Given the description of an element on the screen output the (x, y) to click on. 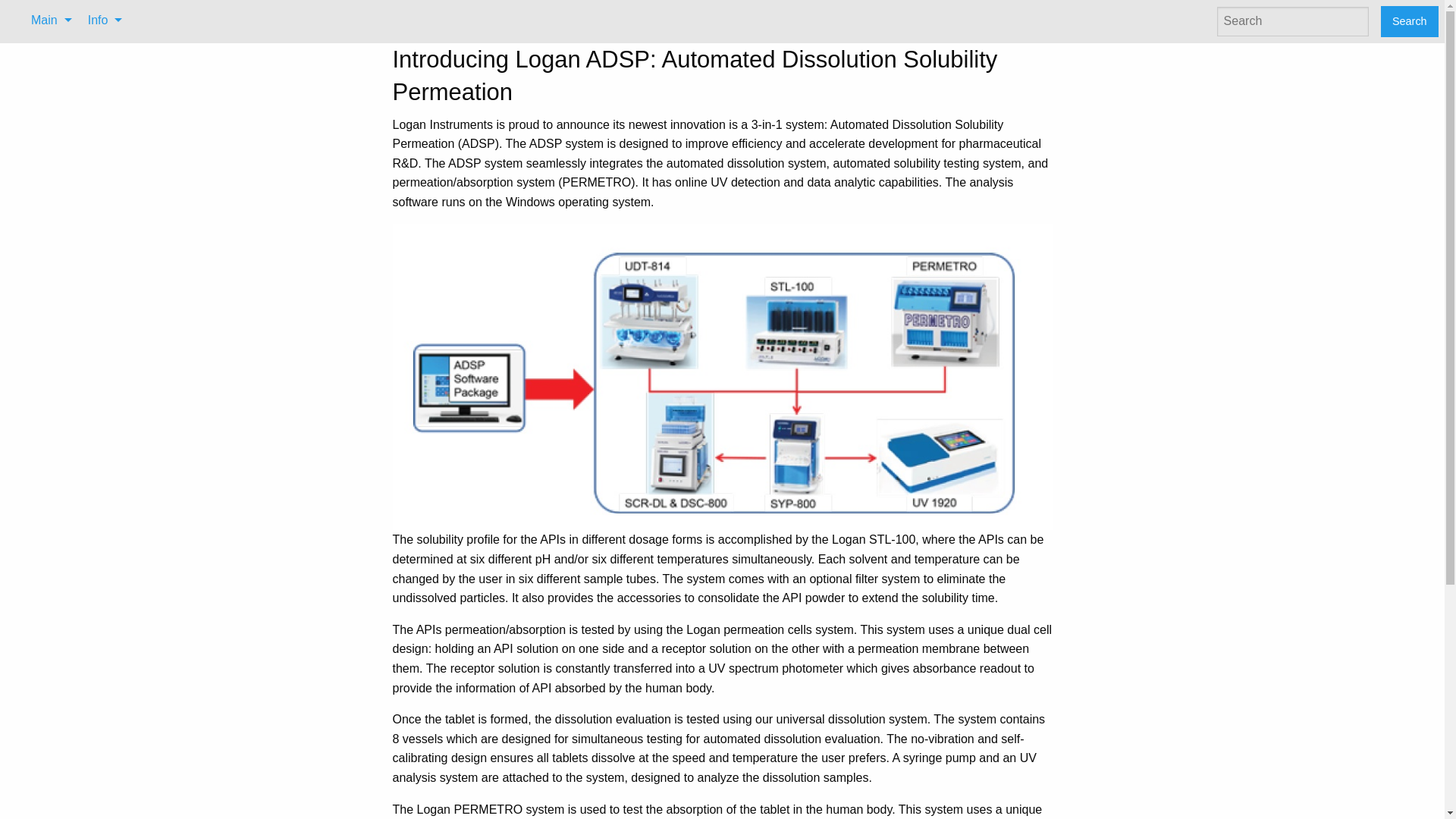
Main (46, 20)
